Given the description of an element on the screen output the (x, y) to click on. 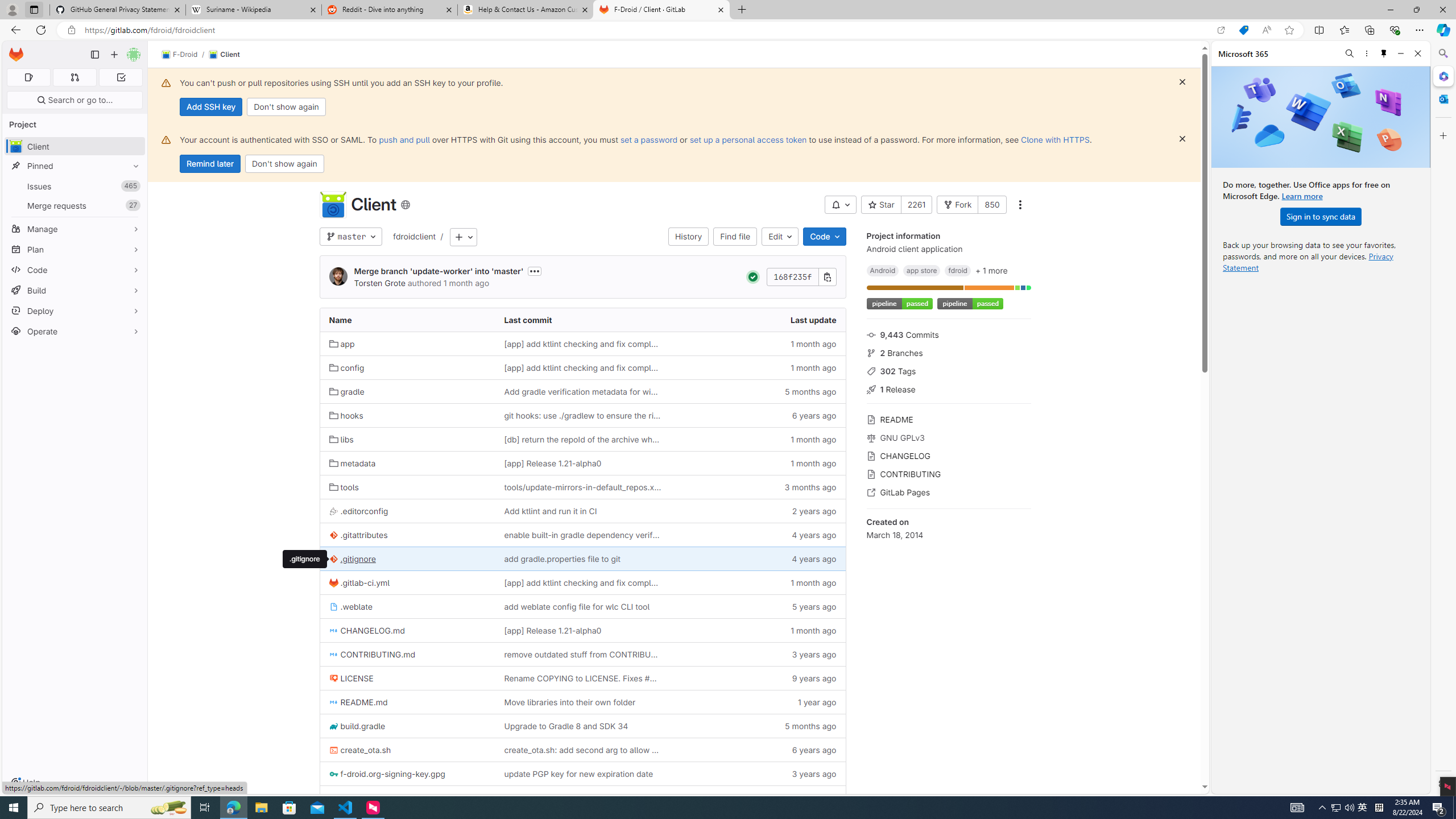
Merge requests 27 (74, 205)
Find file (735, 236)
3 months ago (757, 487)
F-Droid/ (185, 54)
Client (332, 204)
1 year ago (757, 797)
.gitignore (352, 558)
hooks (346, 415)
1 Release (948, 388)
2 Branches (948, 351)
Manage (74, 228)
add weblate config file for wlc CLI tool (576, 606)
